Given the description of an element on the screen output the (x, y) to click on. 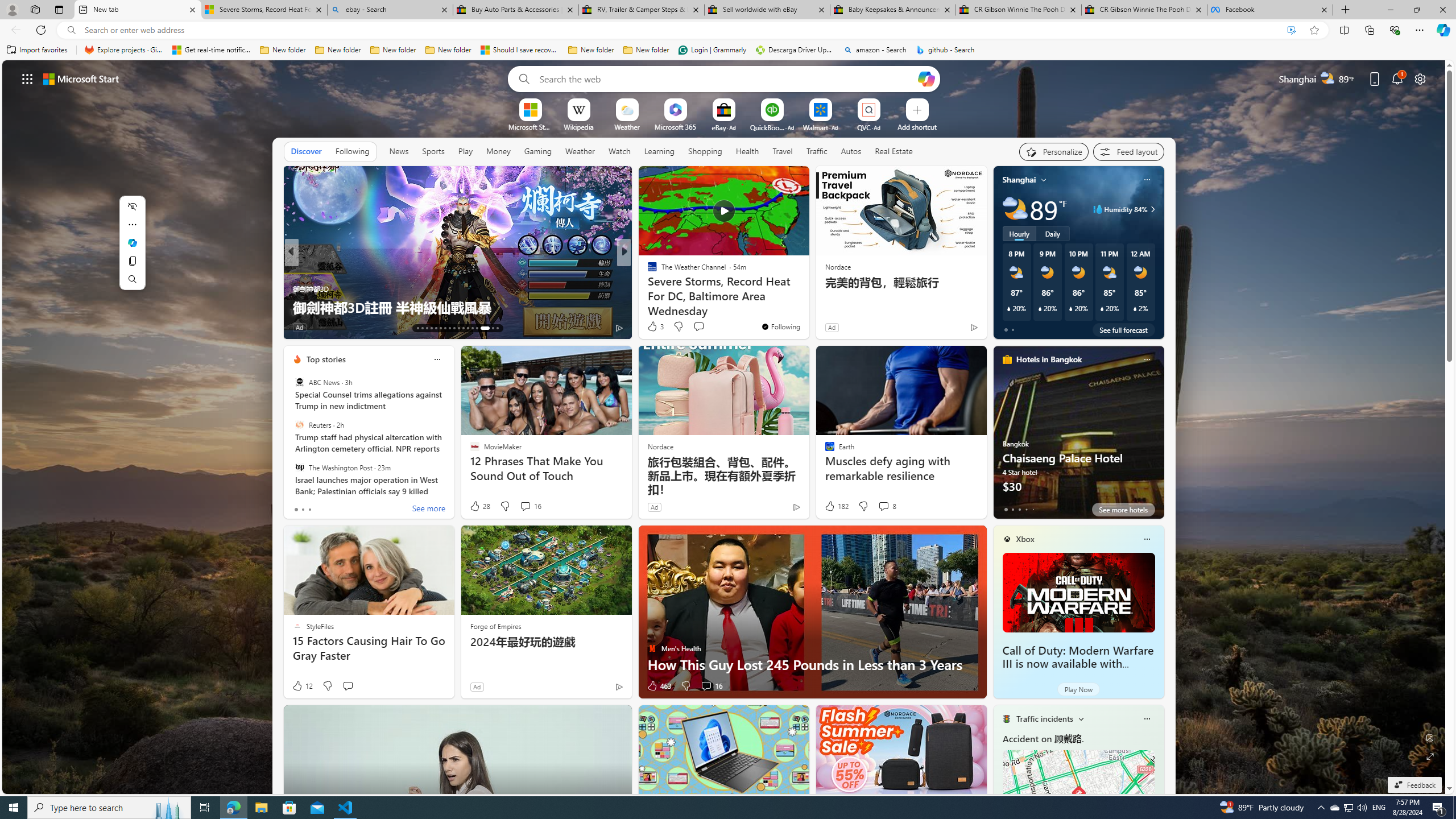
View comments 8 Comment (887, 505)
Microsoft 365 (675, 126)
View comments 1 Comment (355, 327)
tab-2 (1019, 509)
28 Like (479, 505)
RV, Trailer & Camper Steps & Ladders for sale | eBay (641, 9)
Class: icon-img (1146, 718)
More Options (886, 101)
New tab (137, 9)
AutomationID: tab-27 (481, 328)
Copy (132, 261)
Shopping (705, 151)
Facebook (1270, 9)
Following (352, 151)
Hide menu (132, 206)
